Given the description of an element on the screen output the (x, y) to click on. 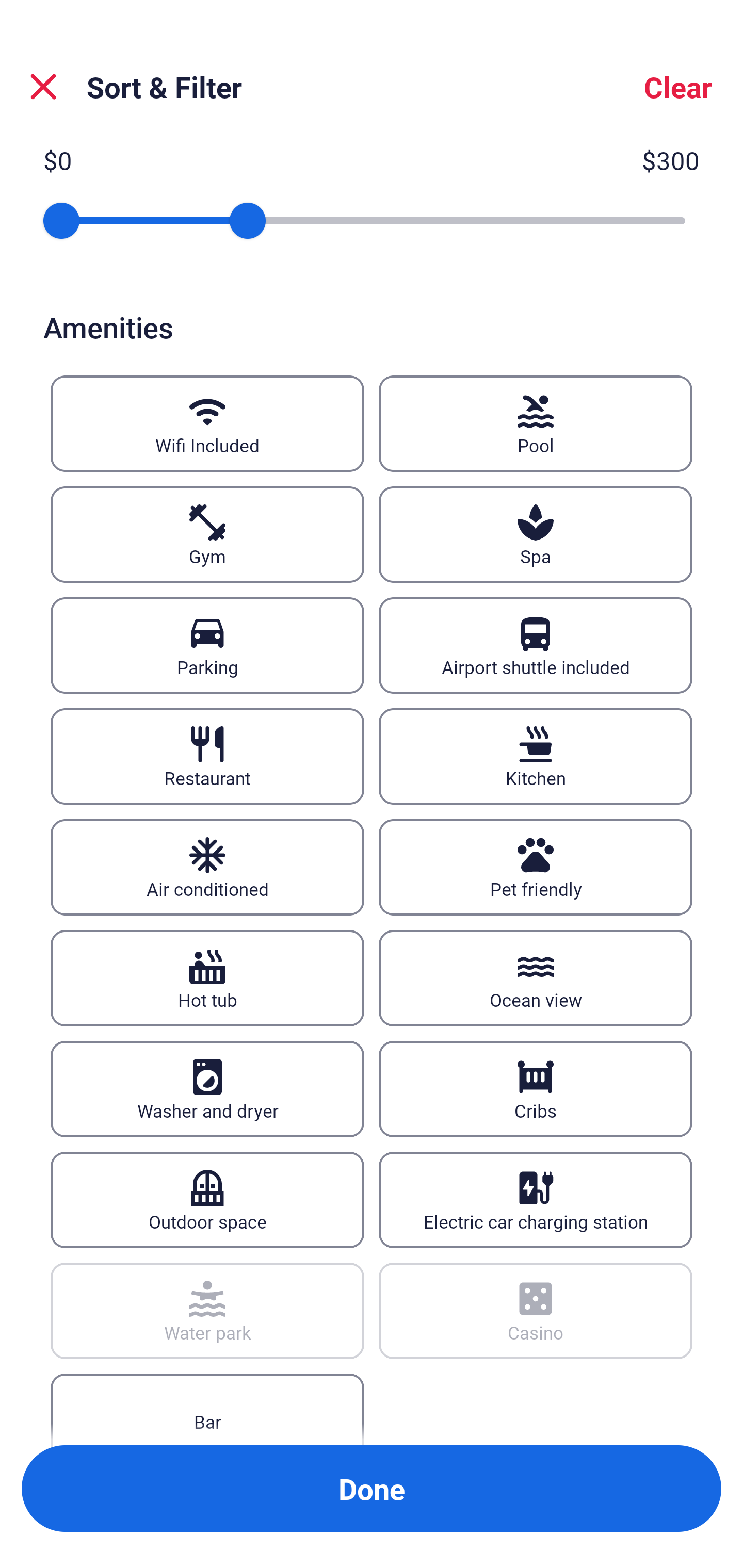
Close Sort and Filter (43, 86)
Clear (677, 86)
Wifi Included (207, 422)
Pool (535, 422)
Gym (207, 534)
Spa (535, 534)
Parking (207, 645)
Airport shuttle included (535, 645)
Restaurant (207, 756)
Kitchen (535, 756)
Air conditioned (207, 866)
Pet friendly (535, 866)
Hot tub (207, 978)
Ocean view (535, 978)
Washer and dryer (207, 1088)
Cribs (535, 1088)
Outdoor space (207, 1200)
Electric car charging station (535, 1200)
Water park (207, 1310)
Casino (535, 1310)
Bar (207, 1409)
Apply and close Sort and Filter Done (371, 1488)
